Given the description of an element on the screen output the (x, y) to click on. 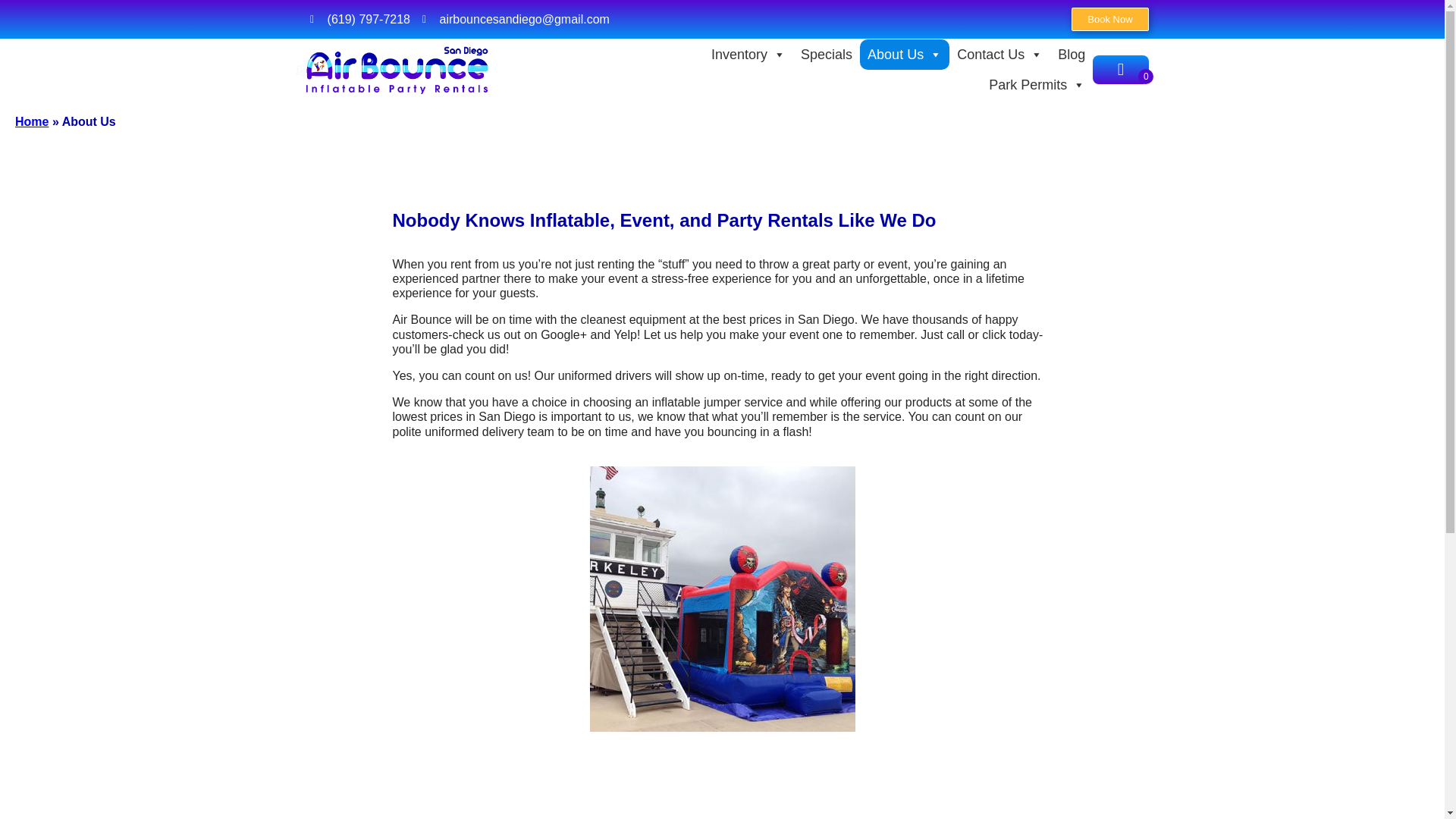
Specials (826, 54)
Park Permits (1037, 84)
About Us (904, 54)
Contact Us (999, 54)
Inventory (748, 54)
Book Now (1109, 19)
Blog (1071, 54)
